Given the description of an element on the screen output the (x, y) to click on. 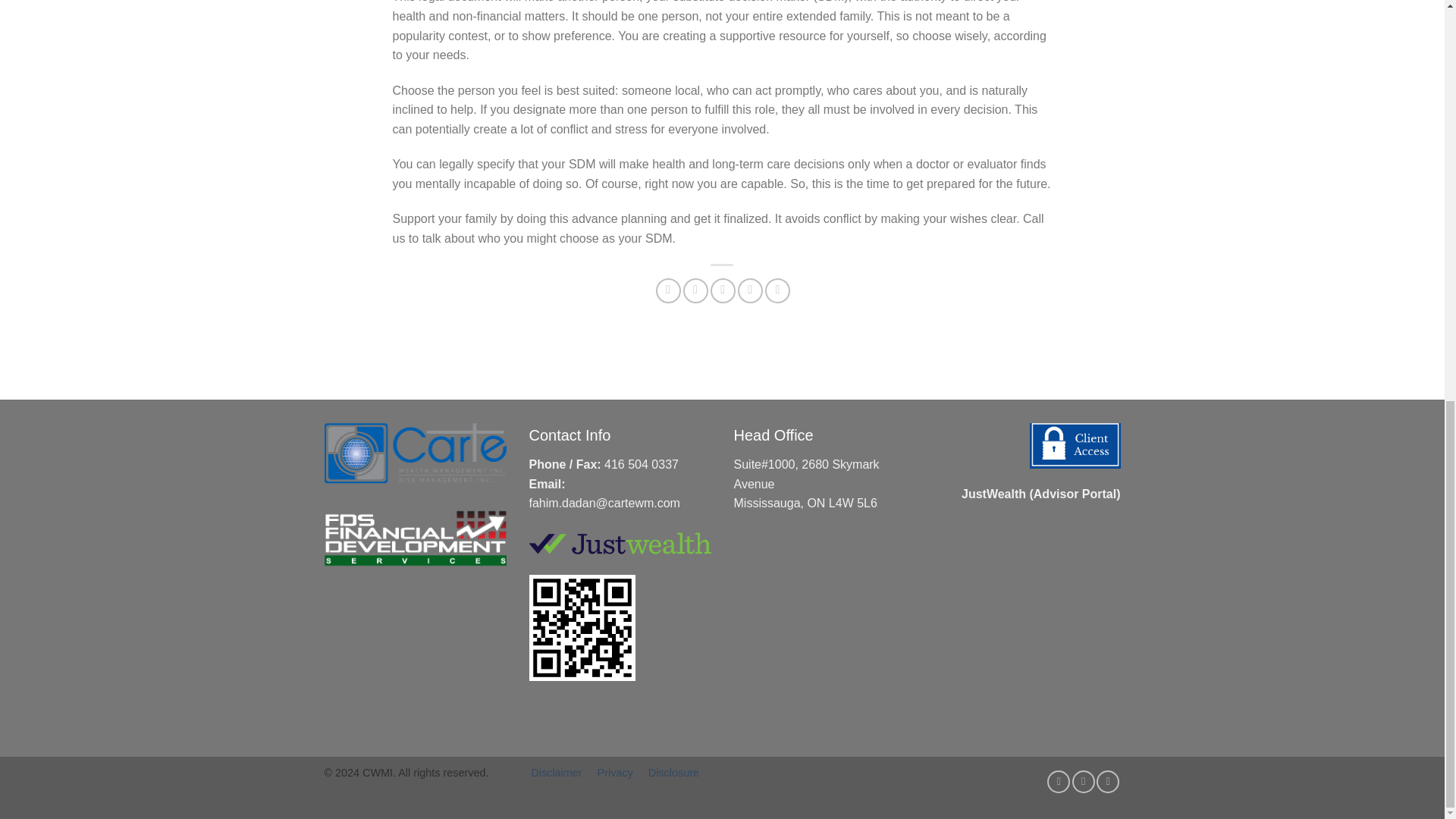
Email to a Friend (722, 290)
Share on Twitter (694, 290)
Pin on Pinterest (750, 290)
Privacy (614, 772)
Follow on Twitter (1082, 781)
Follow on Facebook (1058, 781)
Share on LinkedIn (777, 290)
Follow on LinkedIn (1107, 781)
Disclaimer (555, 772)
Share on Facebook (668, 290)
Fahim-Dadan (586, 728)
Disclosure (672, 772)
